Given the description of an element on the screen output the (x, y) to click on. 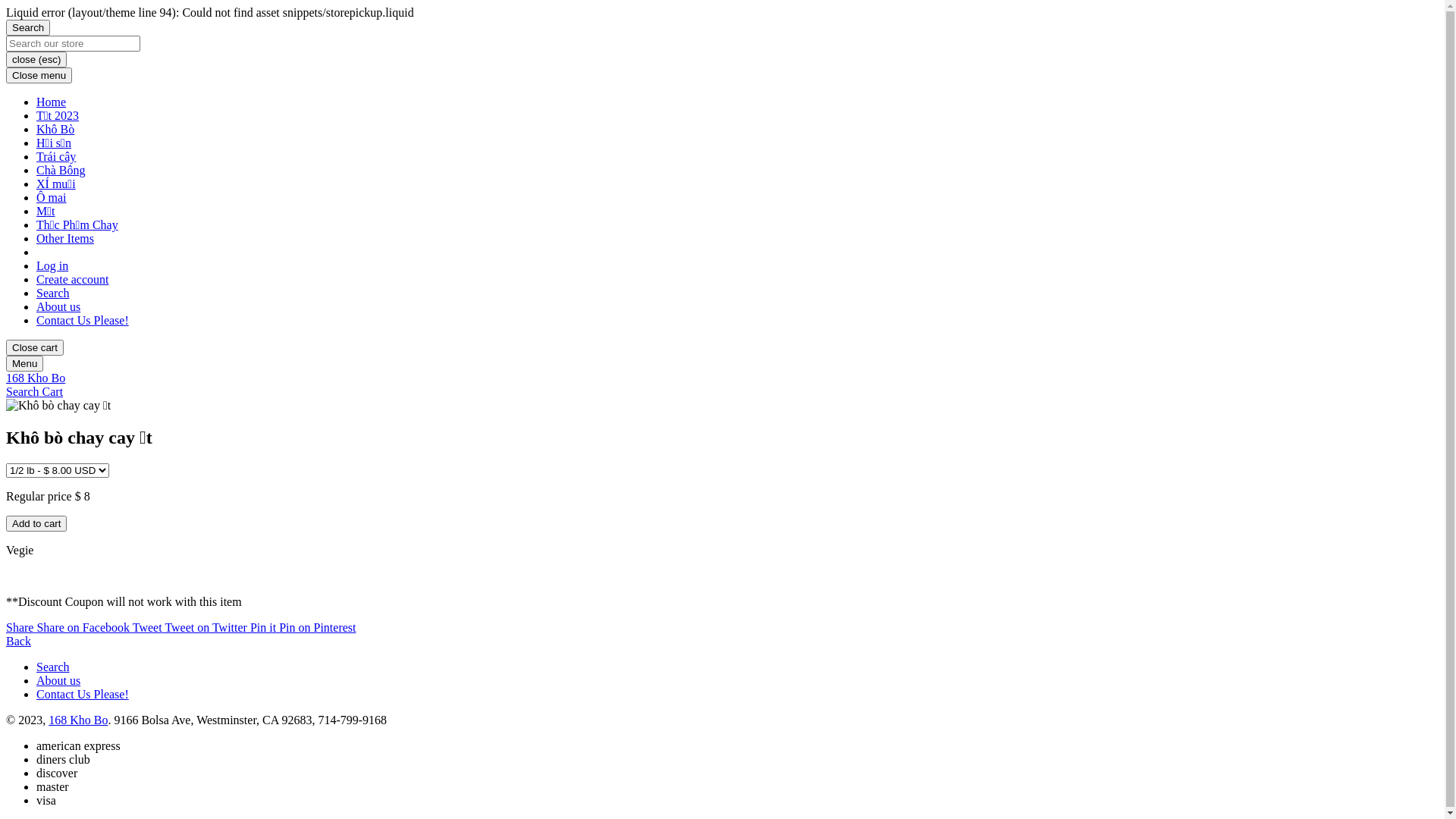
Close menu Element type: text (39, 75)
About us Element type: text (58, 680)
168 Kho Bo Element type: text (35, 377)
Log in Element type: text (52, 265)
close (esc) Element type: text (36, 59)
Back Element type: text (18, 640)
Search Element type: text (24, 391)
Create account Element type: text (72, 279)
Menu Element type: text (24, 363)
Home Element type: text (50, 101)
Share Share on Facebook Element type: text (69, 627)
Add to cart Element type: text (36, 523)
Contact Us Please! Element type: text (82, 693)
Search Element type: text (52, 666)
Other Items Element type: text (65, 238)
168 Kho Bo Element type: text (77, 719)
Tweet Tweet on Twitter Element type: text (191, 627)
Contact Us Please! Element type: text (82, 319)
Cart Element type: text (52, 391)
About us Element type: text (58, 306)
Pin it Pin on Pinterest Element type: text (303, 627)
Search Element type: text (28, 27)
Close cart Element type: text (34, 347)
Search Element type: text (52, 292)
